Given the description of an element on the screen output the (x, y) to click on. 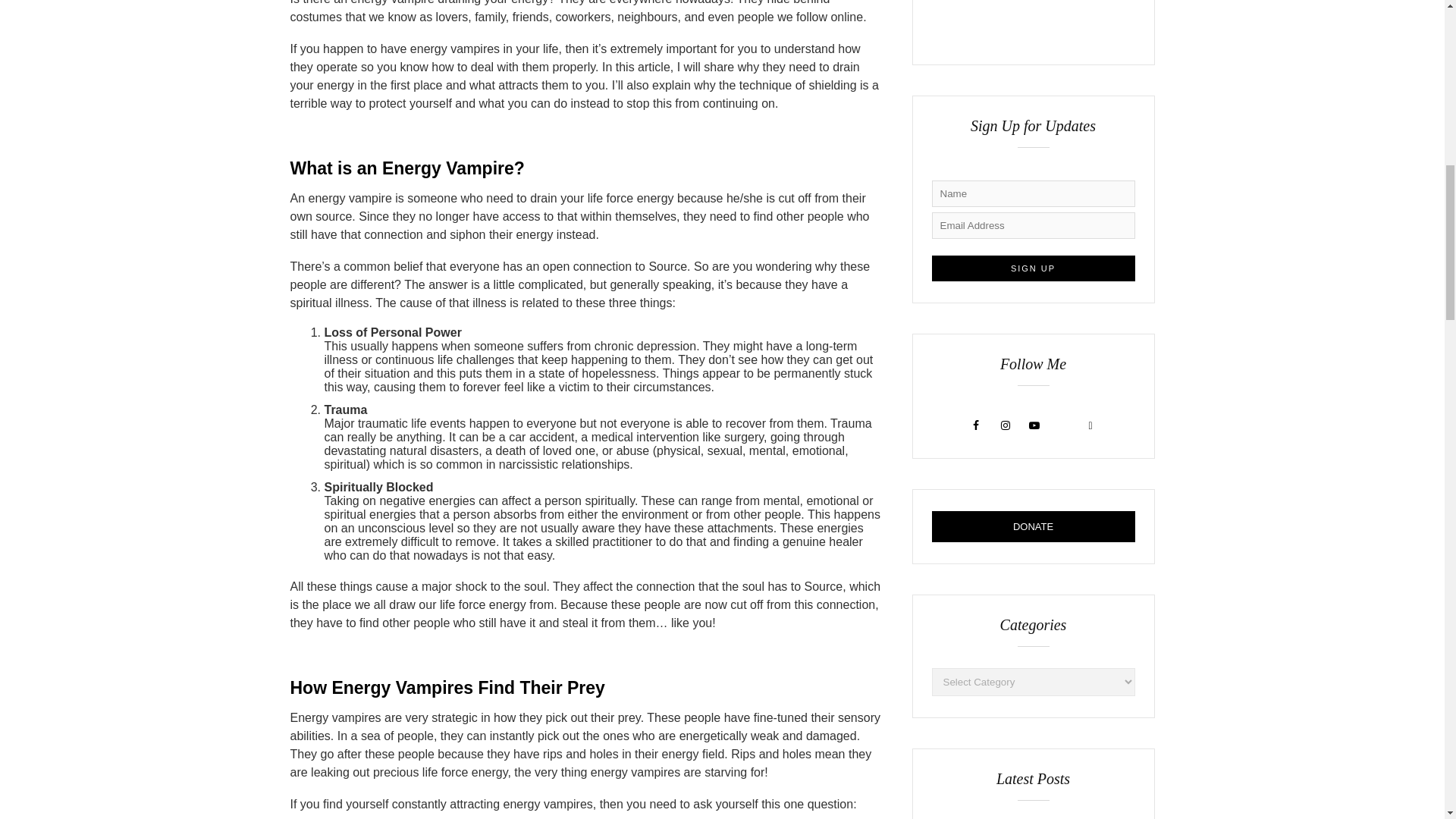
Support My Work (1032, 526)
SIGN UP (1032, 268)
